Given the description of an element on the screen output the (x, y) to click on. 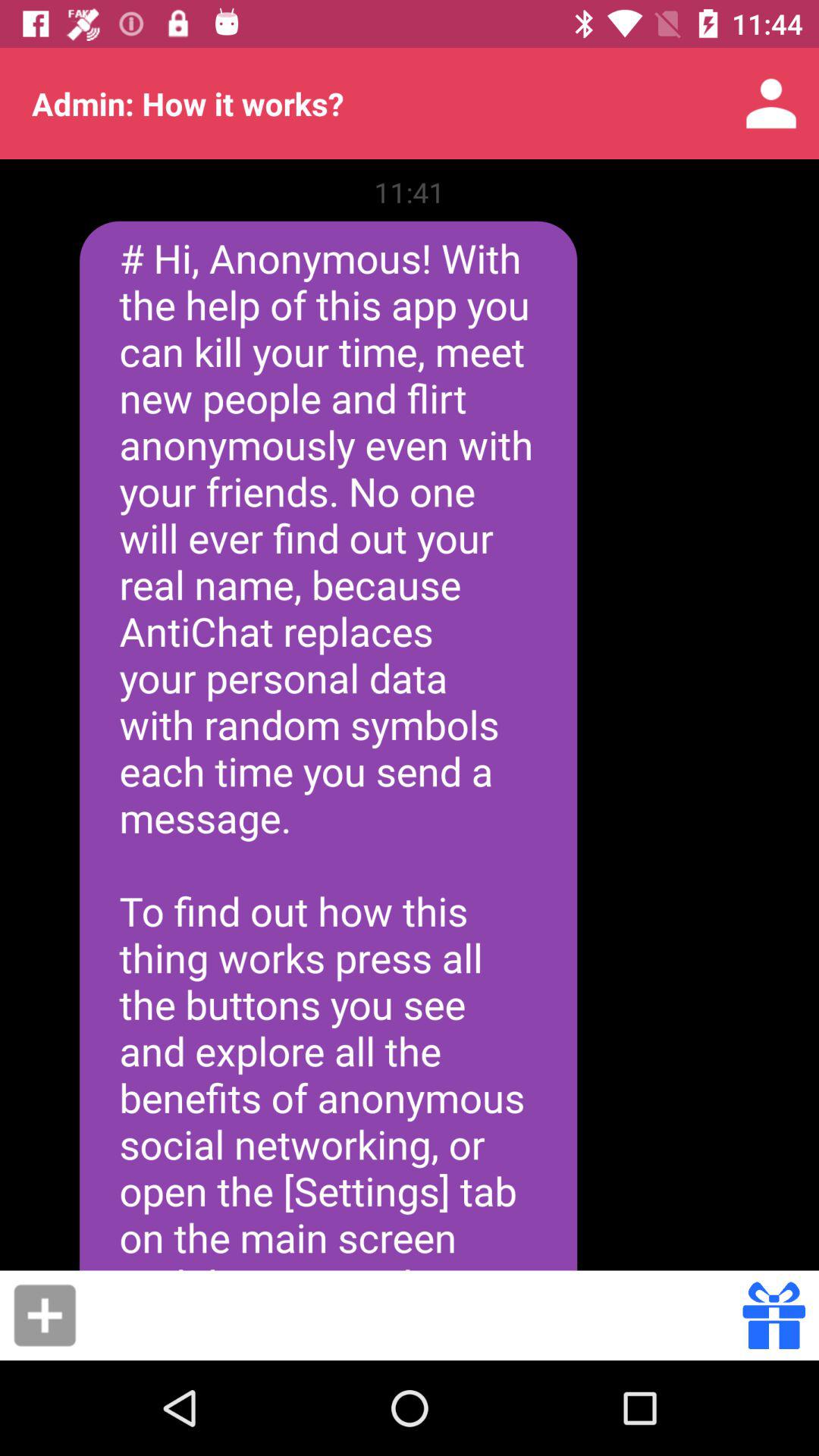
turn on item at the bottom right corner (774, 1315)
